Given the description of an element on the screen output the (x, y) to click on. 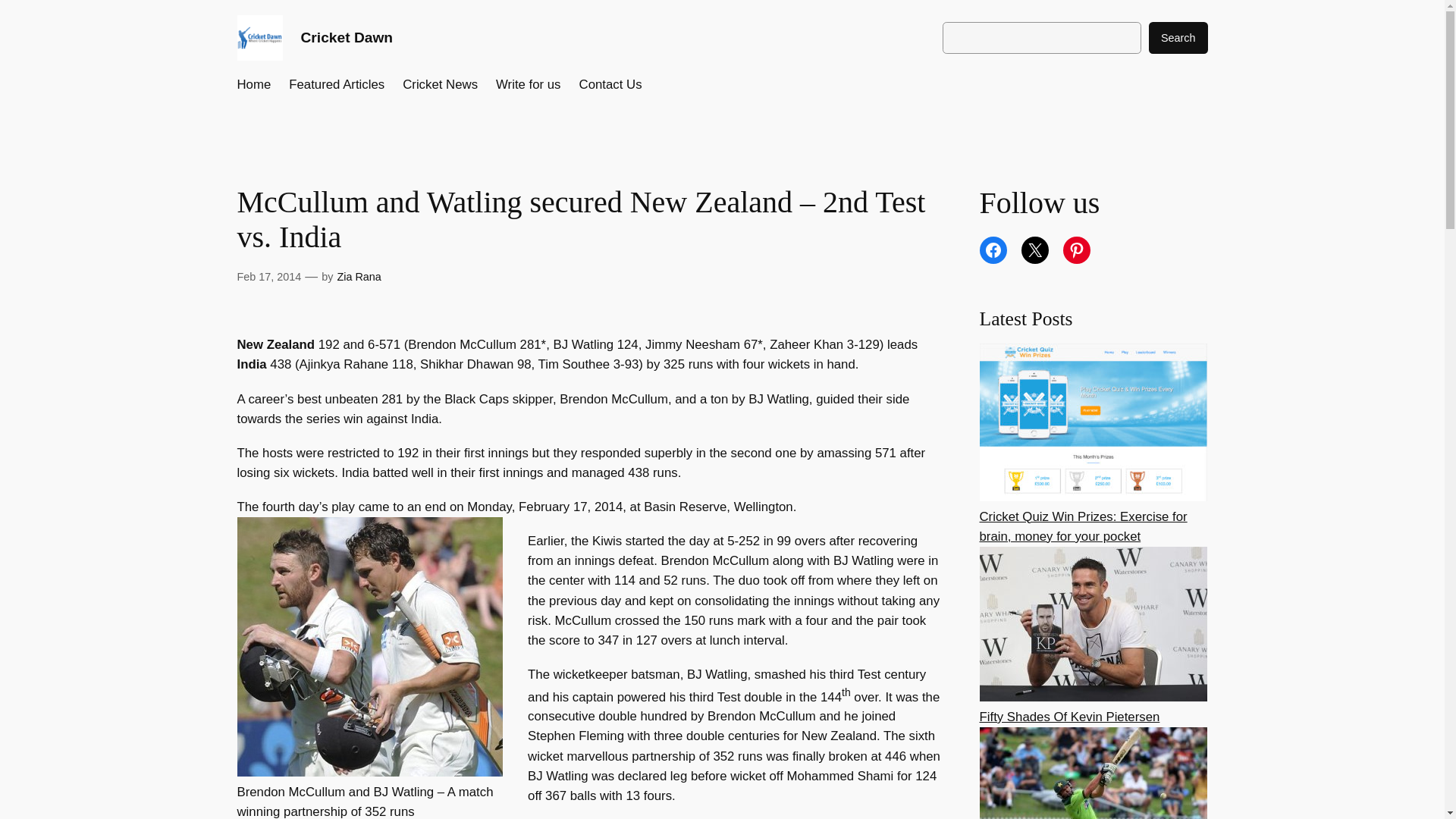
X (1035, 249)
Write for us (528, 85)
Facebook (993, 249)
Feb 17, 2014 (268, 276)
Search (1178, 38)
Home (252, 85)
Cricket News (440, 85)
Zia Rana (358, 276)
Contact Us (610, 85)
